Given the description of an element on the screen output the (x, y) to click on. 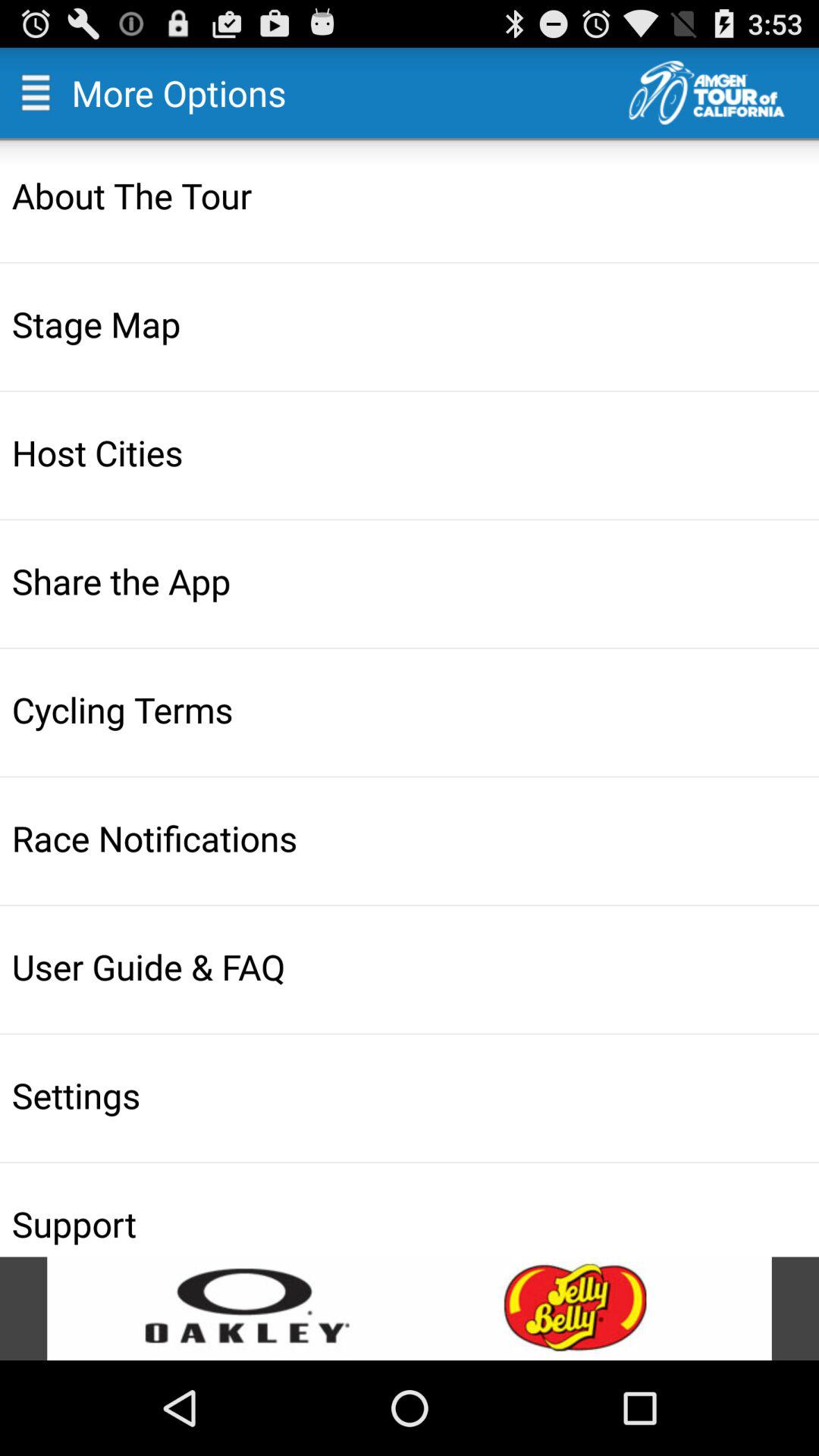
swipe to the share the app (411, 580)
